Given the description of an element on the screen output the (x, y) to click on. 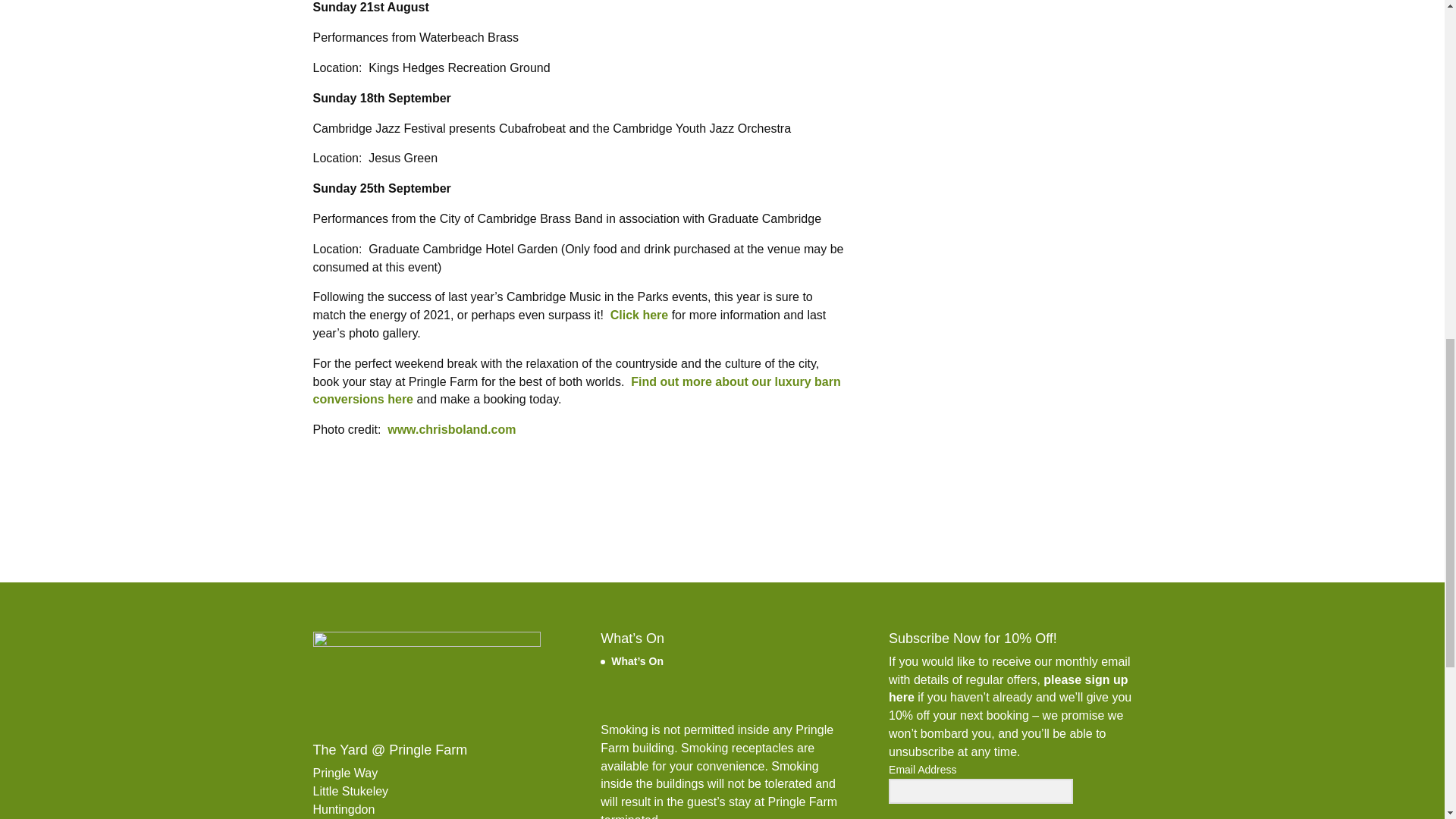
Find out more about our luxury barn conversions here (576, 390)
Click here (639, 314)
www.chrisboland.com (451, 429)
